Given the description of an element on the screen output the (x, y) to click on. 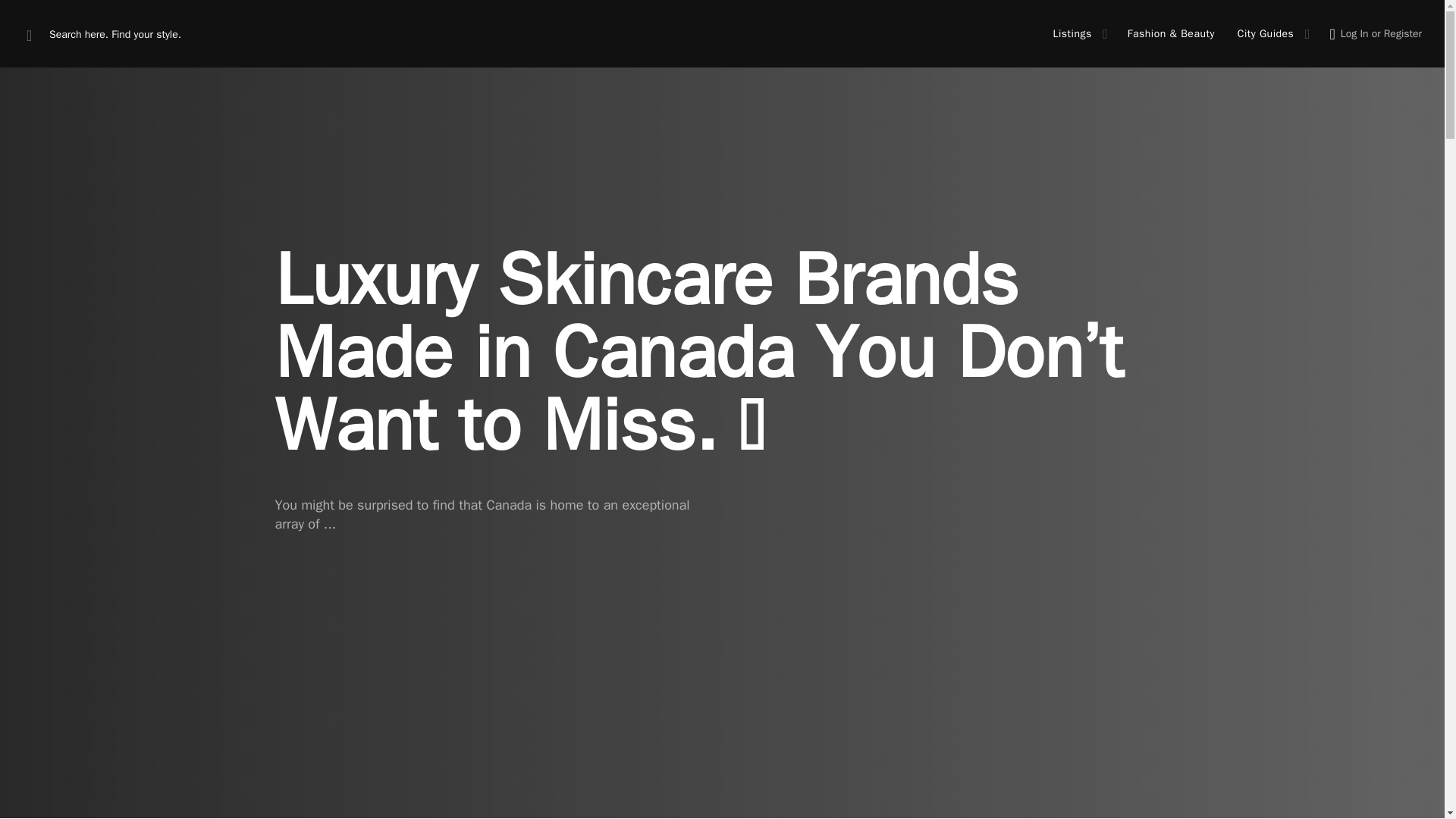
Listings (1071, 32)
Register (1403, 33)
City Guides (1265, 32)
Log In (1354, 33)
